Given the description of an element on the screen output the (x, y) to click on. 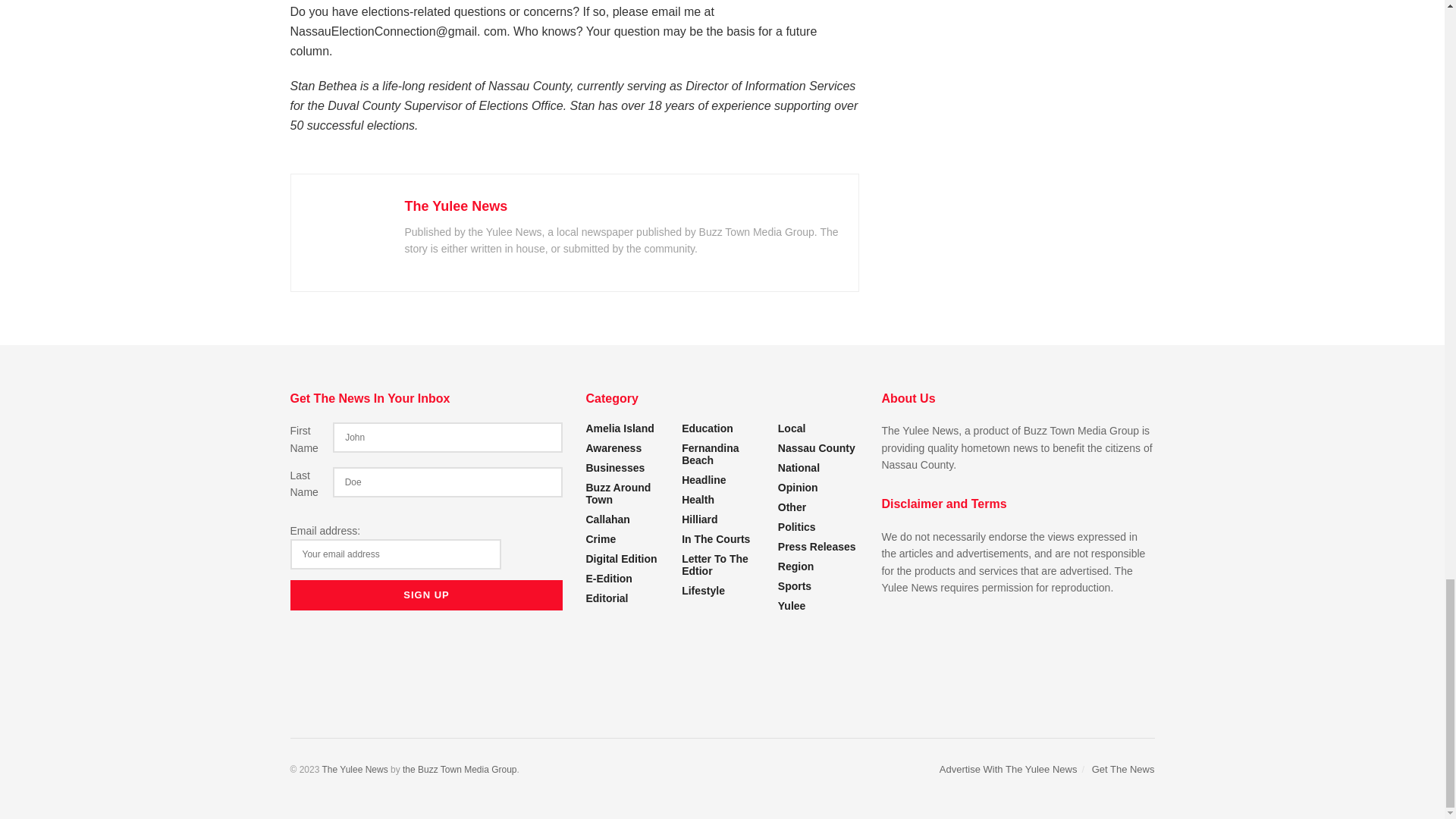
The Yulee News (354, 769)
Sign up (425, 594)
Jegtheme (459, 769)
